Given the description of an element on the screen output the (x, y) to click on. 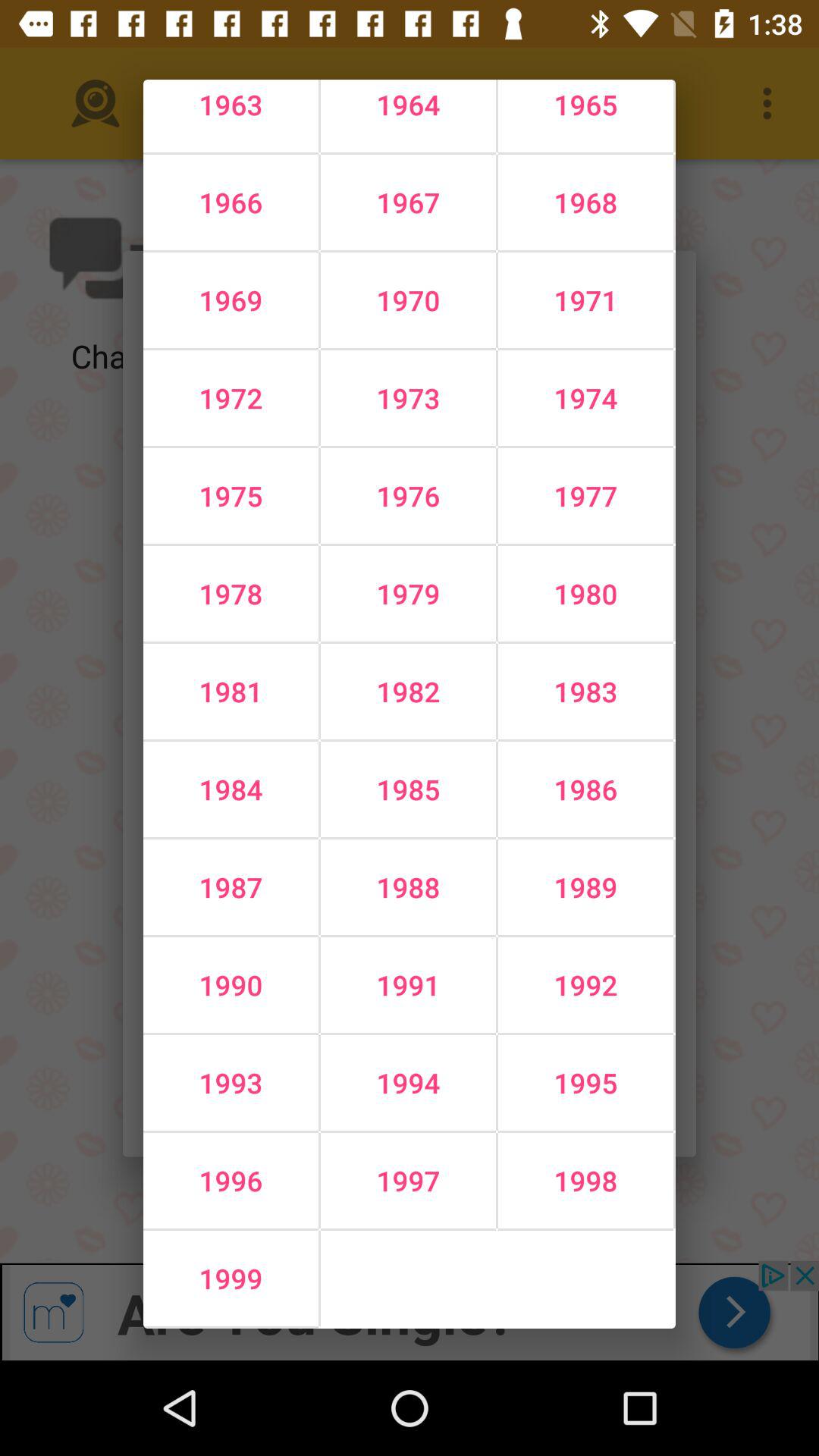
tap icon above the 1994 (585, 984)
